Given the description of an element on the screen output the (x, y) to click on. 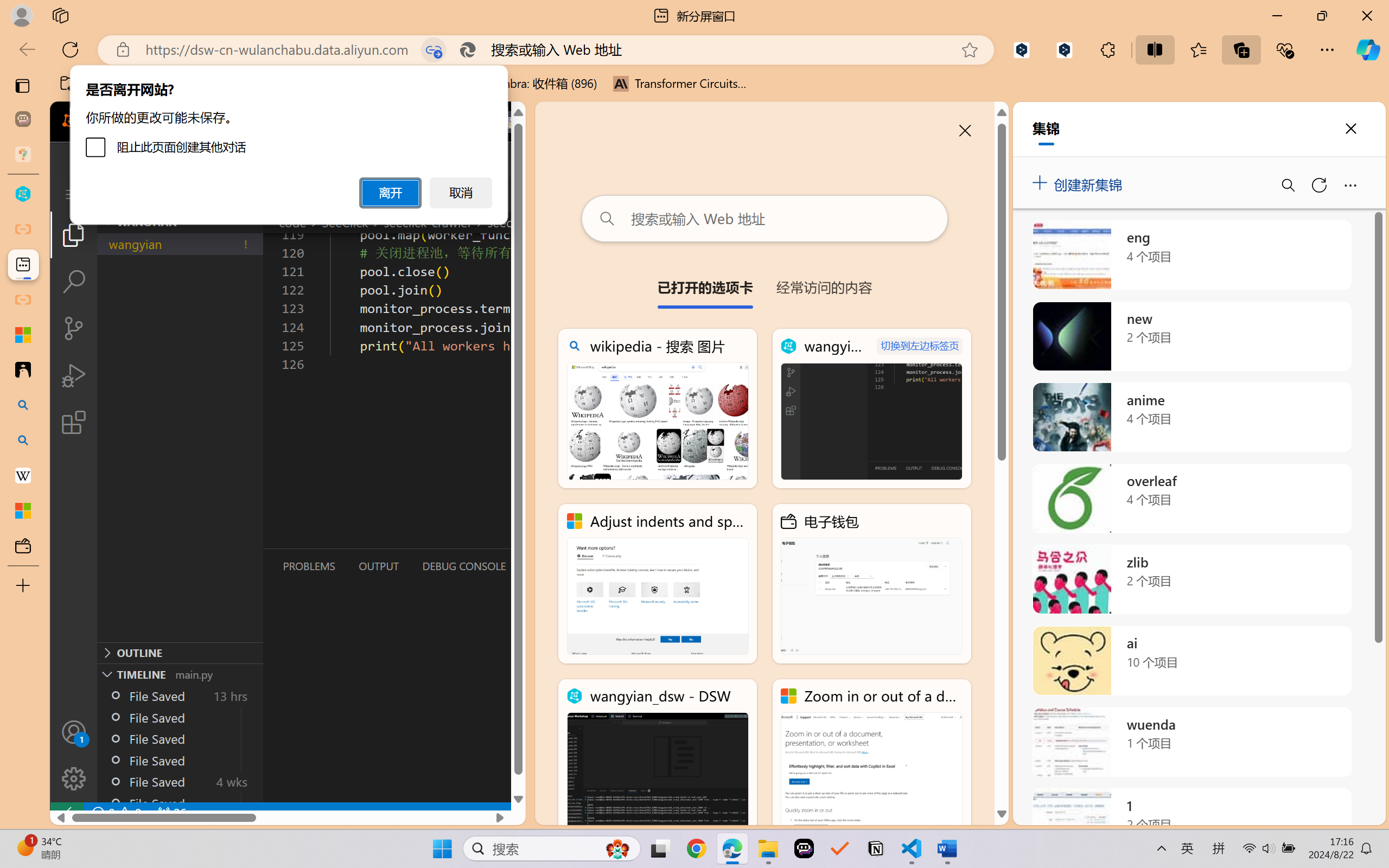
Shape Outline (155, 51)
Czech (1231, 246)
Alt Text (316, 62)
Shape Outline (155, 62)
Mark as Decorative (344, 62)
Screen Reader (437, 91)
